Given the description of an element on the screen output the (x, y) to click on. 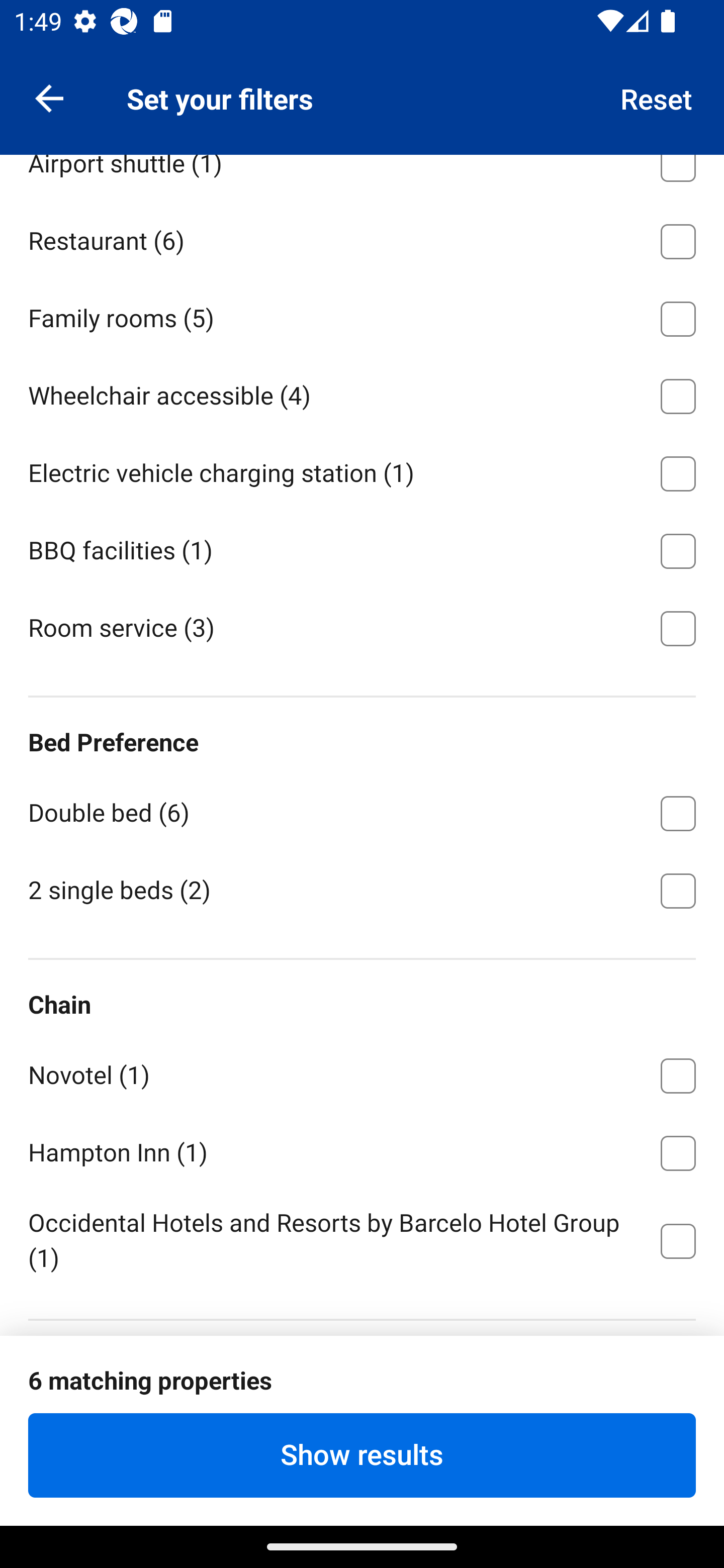
Non-smoking rooms ⁦(6) (361, 83)
Navigate up (49, 97)
Reset (656, 97)
Airport shuttle ⁦(1) (361, 177)
Restaurant ⁦(6) (361, 238)
Family rooms ⁦(5) (361, 315)
Wheelchair accessible ⁦(4) (361, 392)
Electric vehicle charging station ⁦(1) (361, 470)
BBQ facilities ⁦(1) (361, 547)
Room service ⁦(3) (361, 626)
Double bed ⁦(6) (361, 809)
2 single beds ⁦(2) (361, 888)
Novotel ⁦(1) (361, 1072)
Hampton Inn ⁦(1) (361, 1151)
Show results (361, 1454)
